Given the description of an element on the screen output the (x, y) to click on. 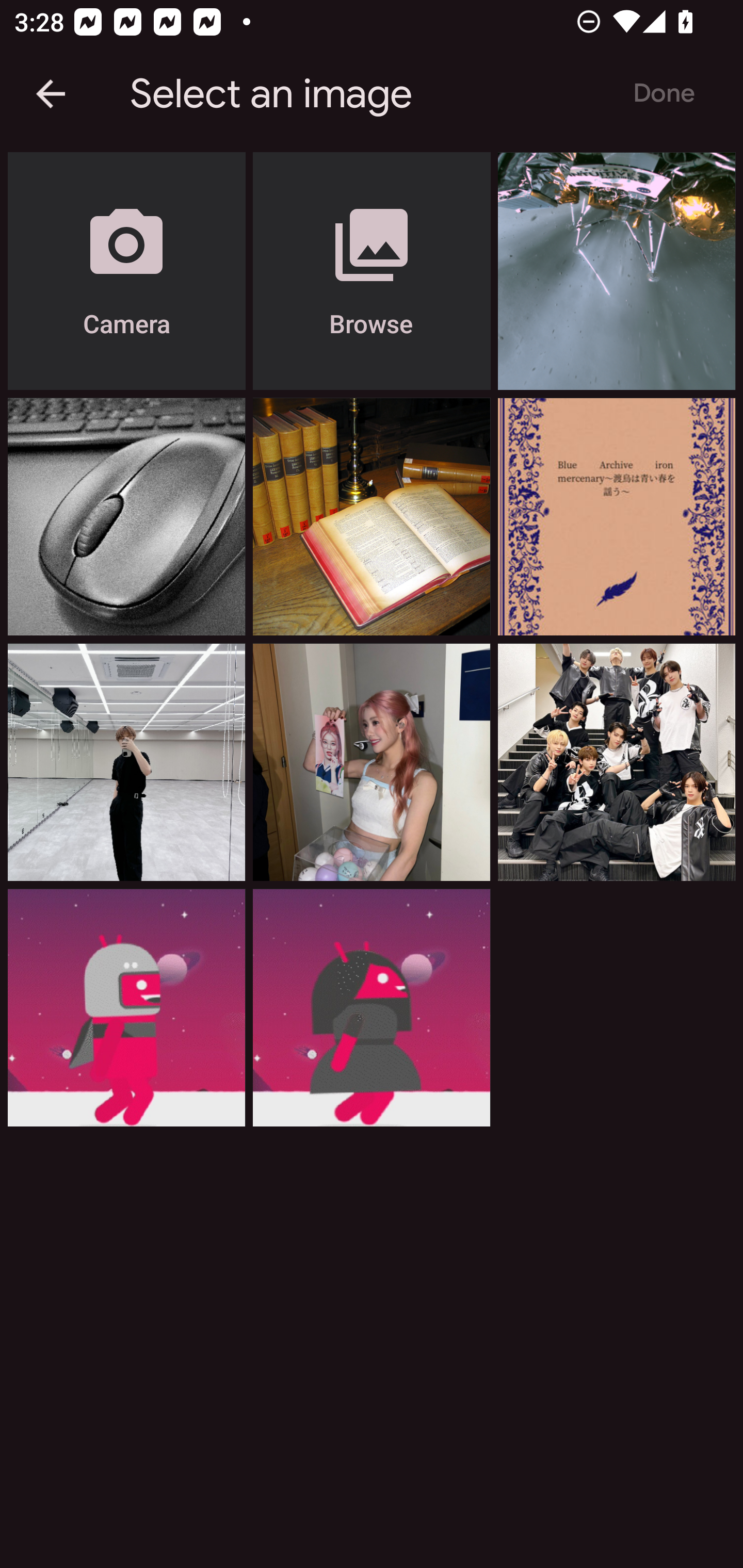
Go back (50, 93)
Done (663, 93)
Camera (126, 271)
Browse (371, 271)
1000000194 Jan 20, 1970 6:54:11 PM (616, 271)
1000000193 Jan 20, 1970 6:54:09 PM (126, 516)
1000000192 Jan 20, 1970 6:54:08 PM (371, 516)
1000000190 Jan 20, 1970 6:54:03 PM (616, 516)
1000000188 Jan 20, 1970 6:54:01 PM (126, 761)
1000000187 Jan 20, 1970 6:54:00 PM (371, 761)
1000000186 Jan 20, 1970 6:54:00 PM (616, 761)
1000000022 Jan 20, 1970 6:12:03 PM (126, 1007)
1000000020 Jan 20, 1970 6:12:03 PM (371, 1007)
